Given the description of an element on the screen output the (x, y) to click on. 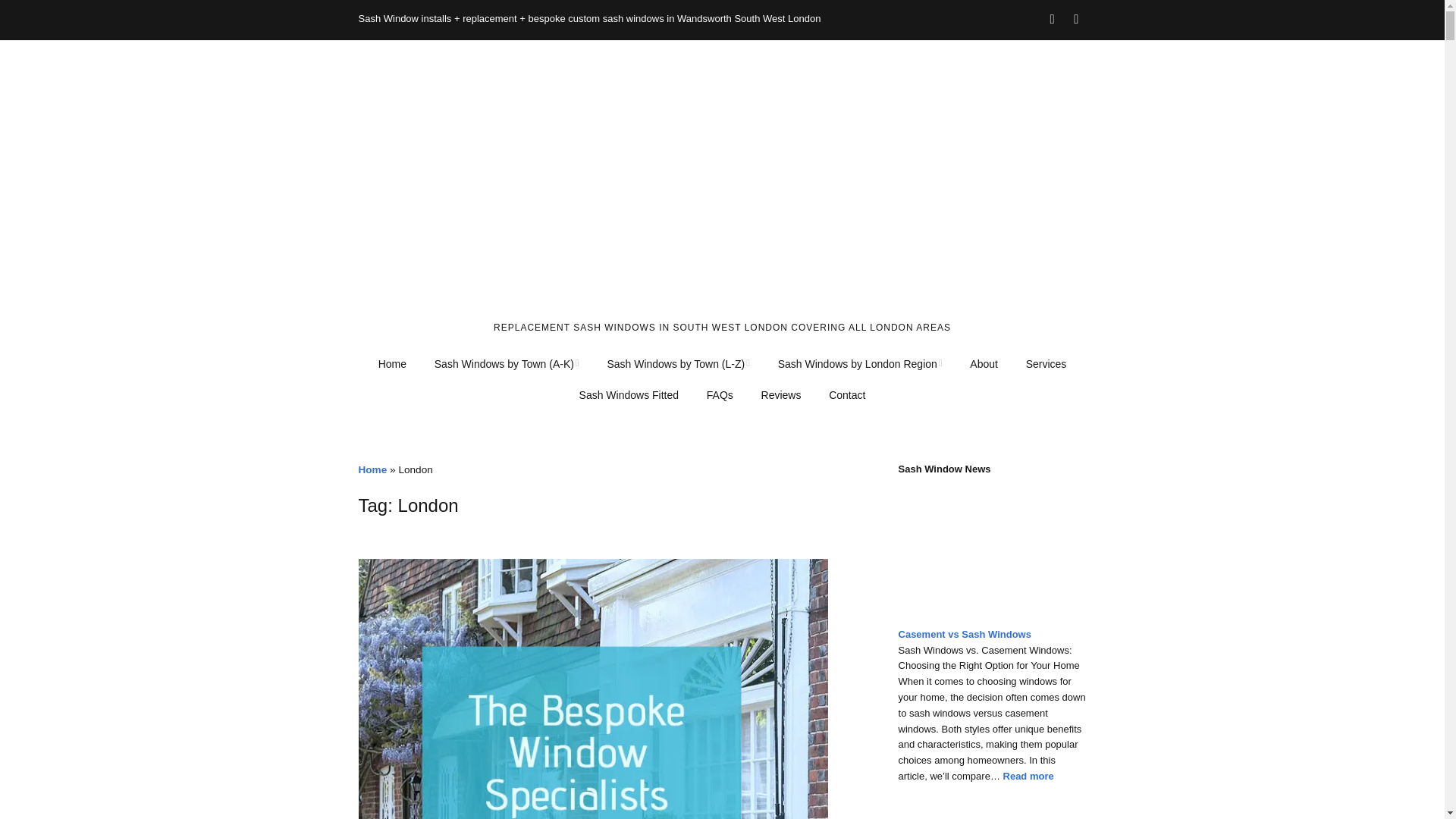
Reviews (781, 395)
Sash Windows by London Region (860, 364)
Home (392, 364)
Sash Windows Fitted (629, 395)
About (984, 364)
Services (1045, 364)
FAQs (719, 395)
